Given the description of an element on the screen output the (x, y) to click on. 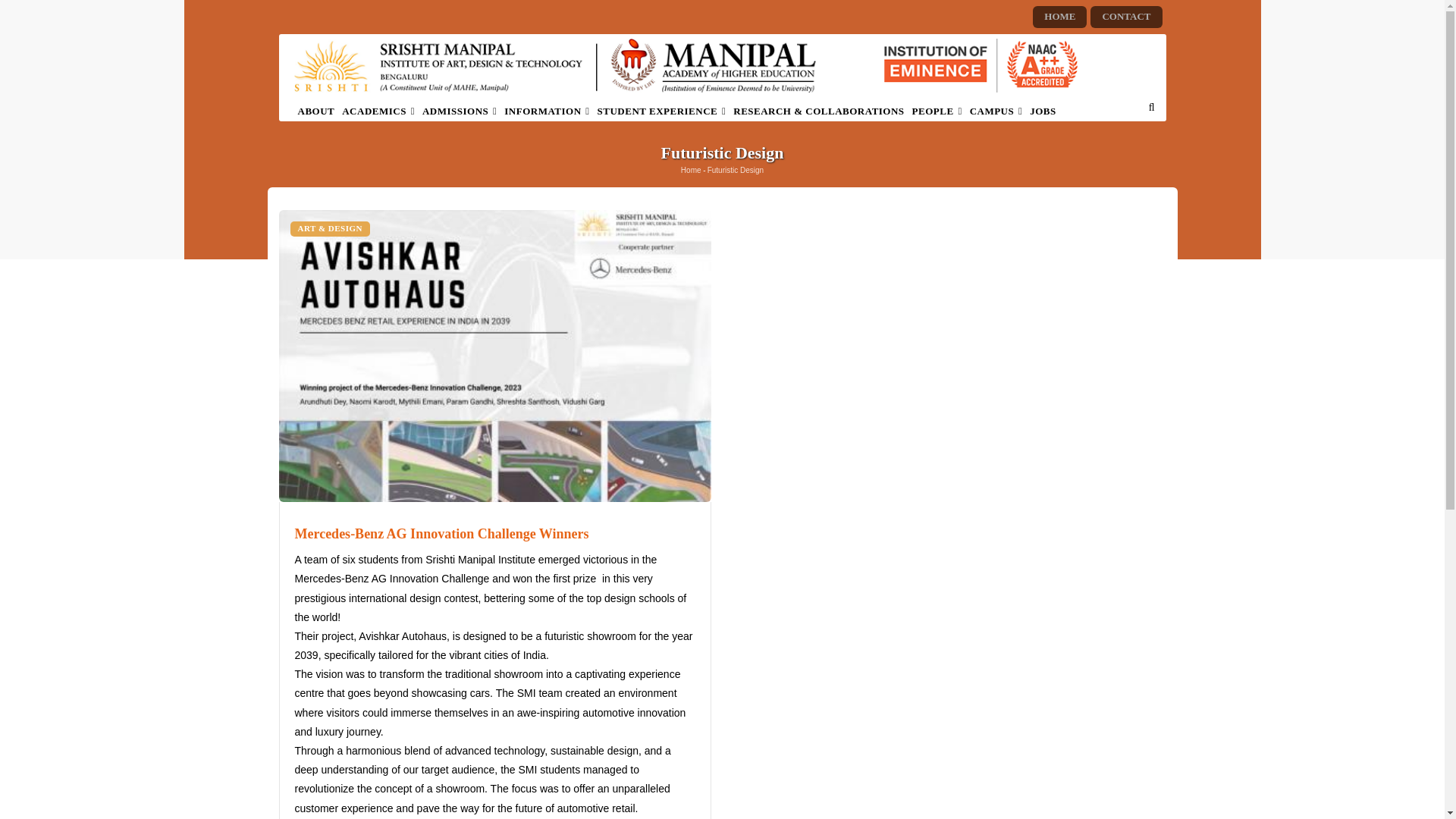
ADMISSIONS (459, 110)
HOME (1059, 16)
STUDENT EXPERIENCE (662, 110)
ACADEMICS (378, 110)
PEOPLE (937, 110)
CONTACT (1126, 16)
INFORMATION (546, 110)
ABOUT (316, 110)
